Given the description of an element on the screen output the (x, y) to click on. 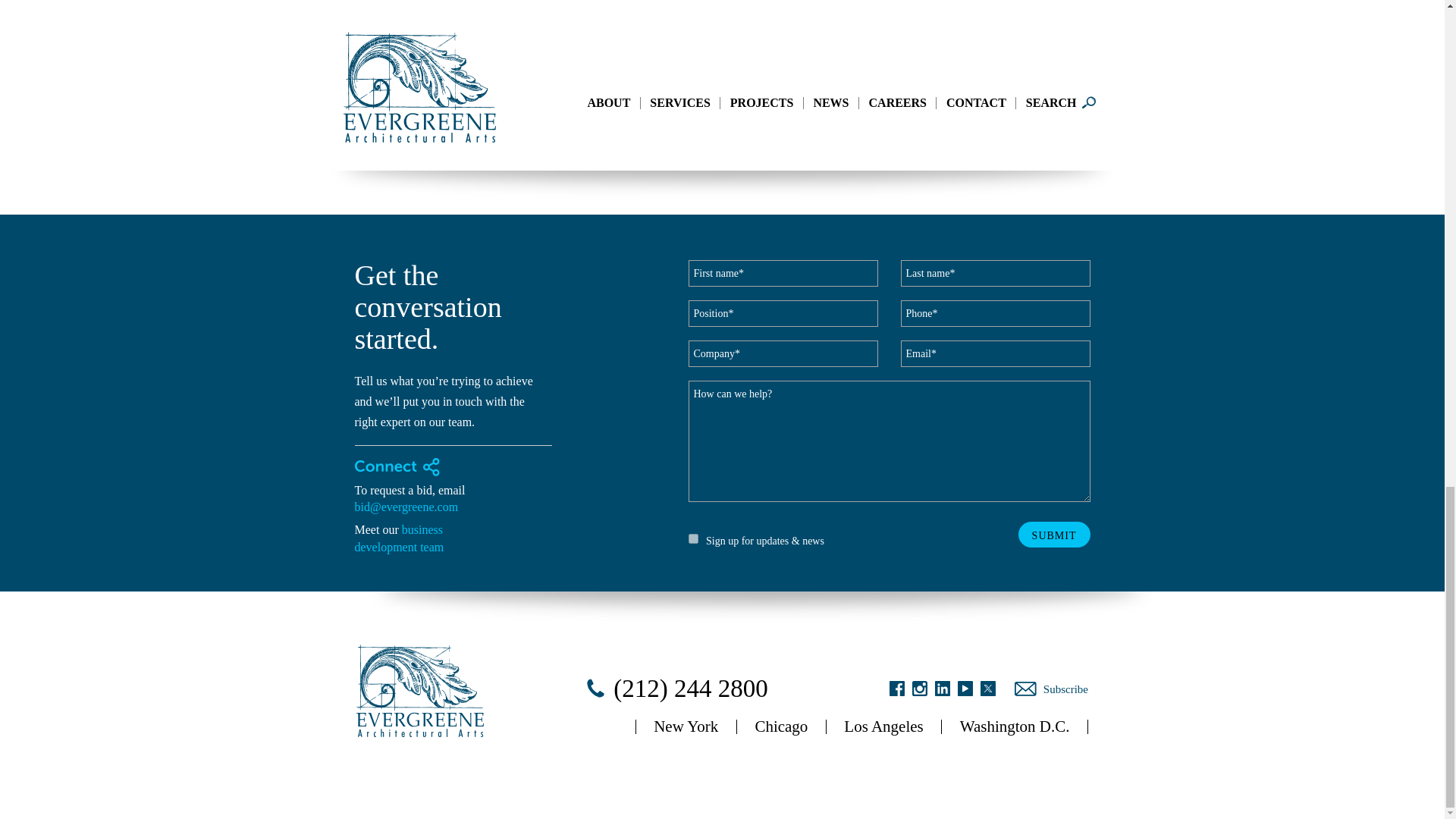
Initial Conditions of Cannon (547, 13)
Cannon During Treatment (547, 108)
SUBMIT (1053, 534)
Cannon Upon Completion of Conservation Treatment (401, 13)
Cannon During Treatment (401, 108)
Cannon During Treatment (691, 13)
